Given the description of an element on the screen output the (x, y) to click on. 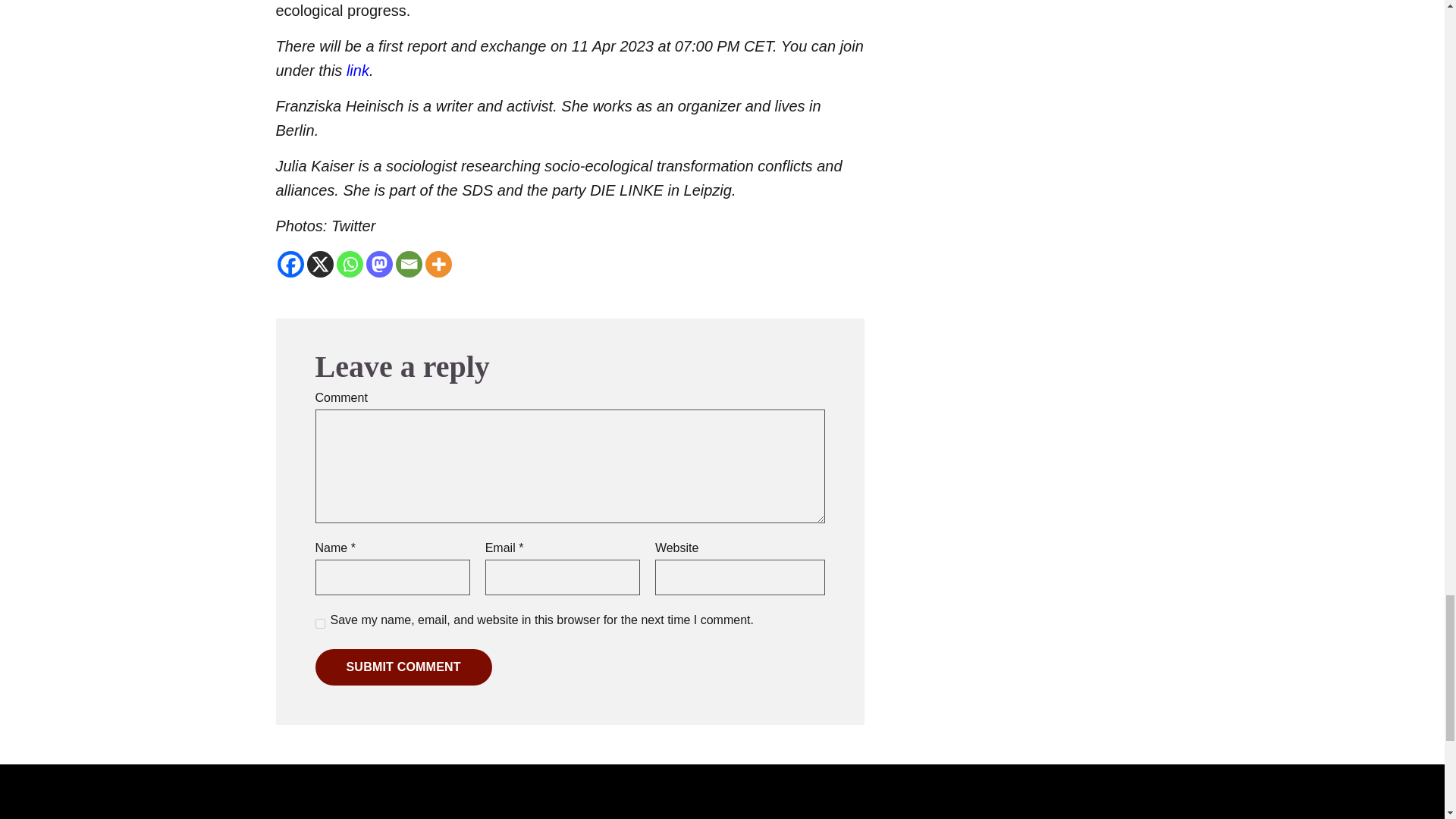
Email (409, 263)
Whatsapp (349, 263)
Facebook (291, 263)
X (319, 263)
Submit Comment (403, 667)
More (438, 263)
Mastodon (378, 263)
